Given the description of an element on the screen output the (x, y) to click on. 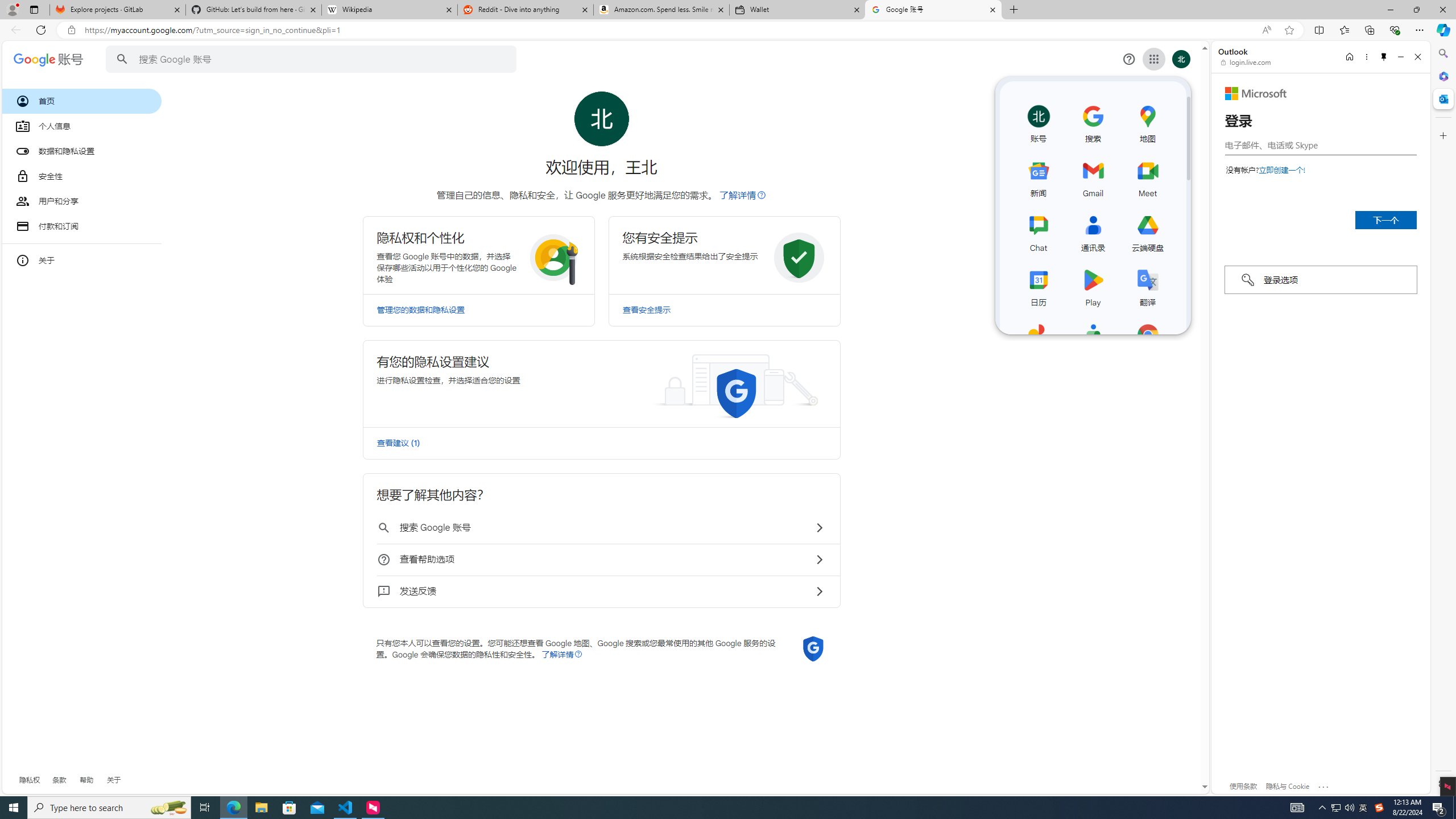
Chrome (1147, 340)
Gmail (1093, 176)
